Given the description of an element on the screen output the (x, y) to click on. 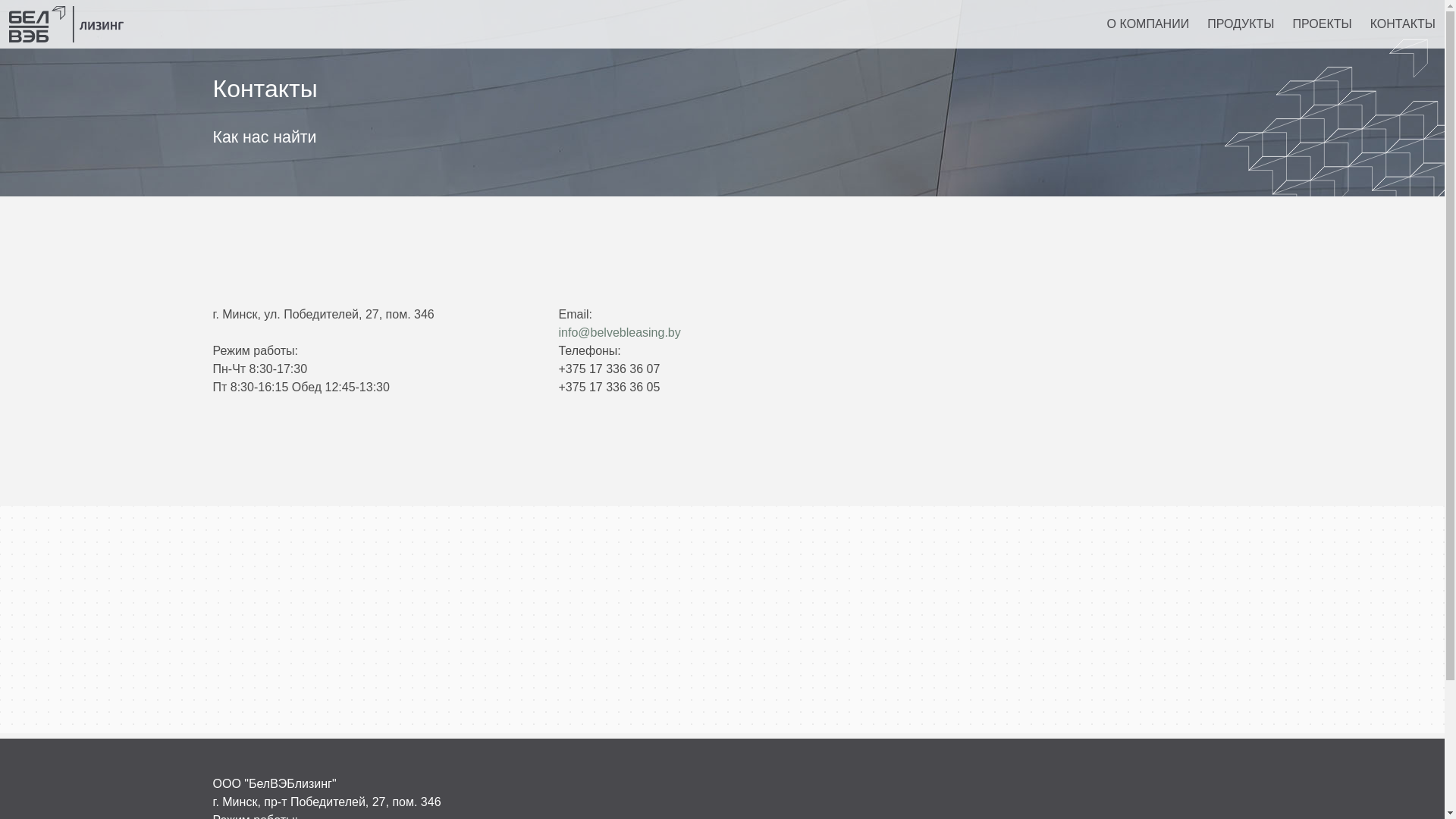
info@belvebleasing.by Element type: text (619, 332)
